Given the description of an element on the screen output the (x, y) to click on. 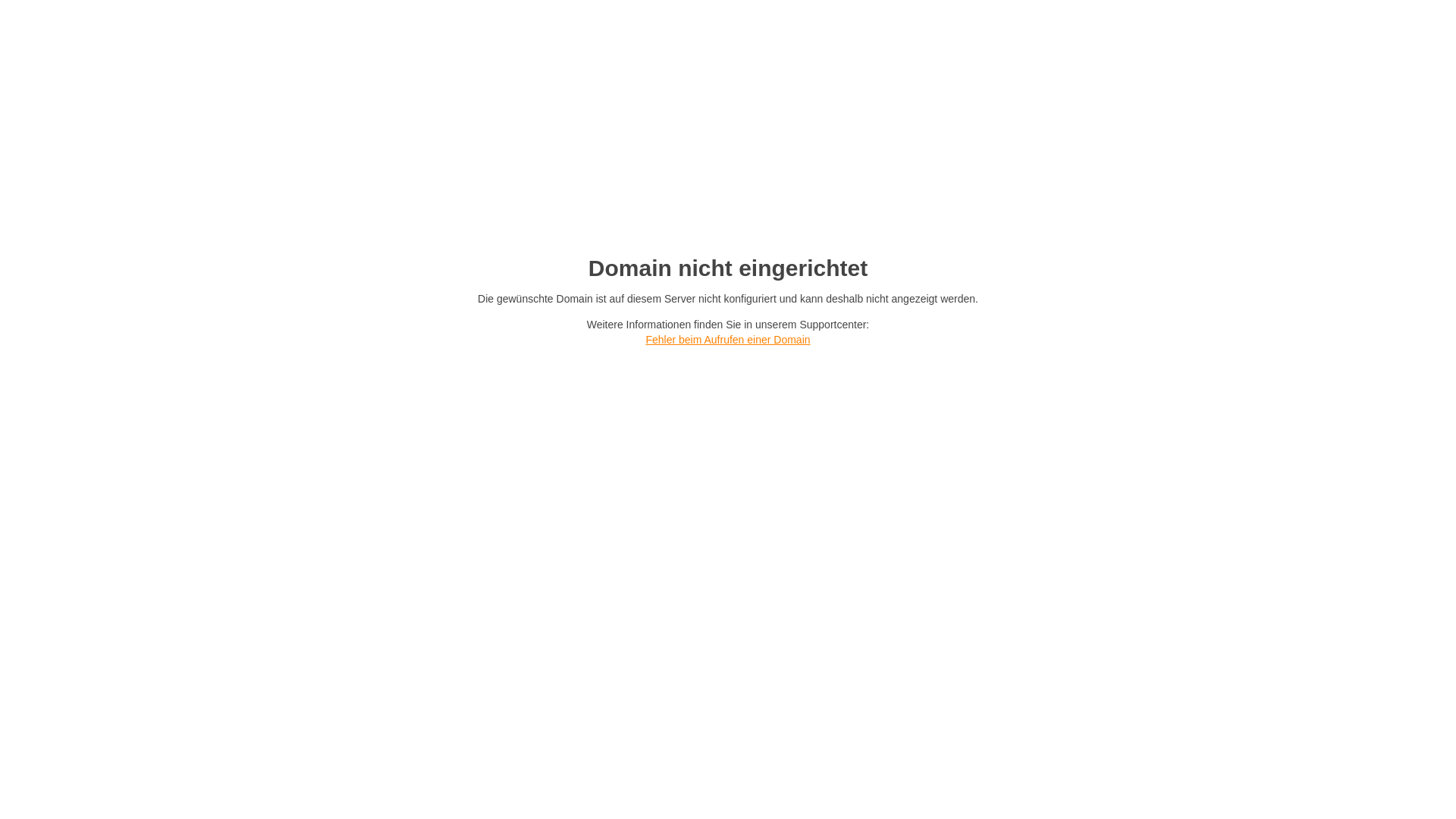
Fehler beim Aufrufen einer Domain Element type: text (727, 339)
